Given the description of an element on the screen output the (x, y) to click on. 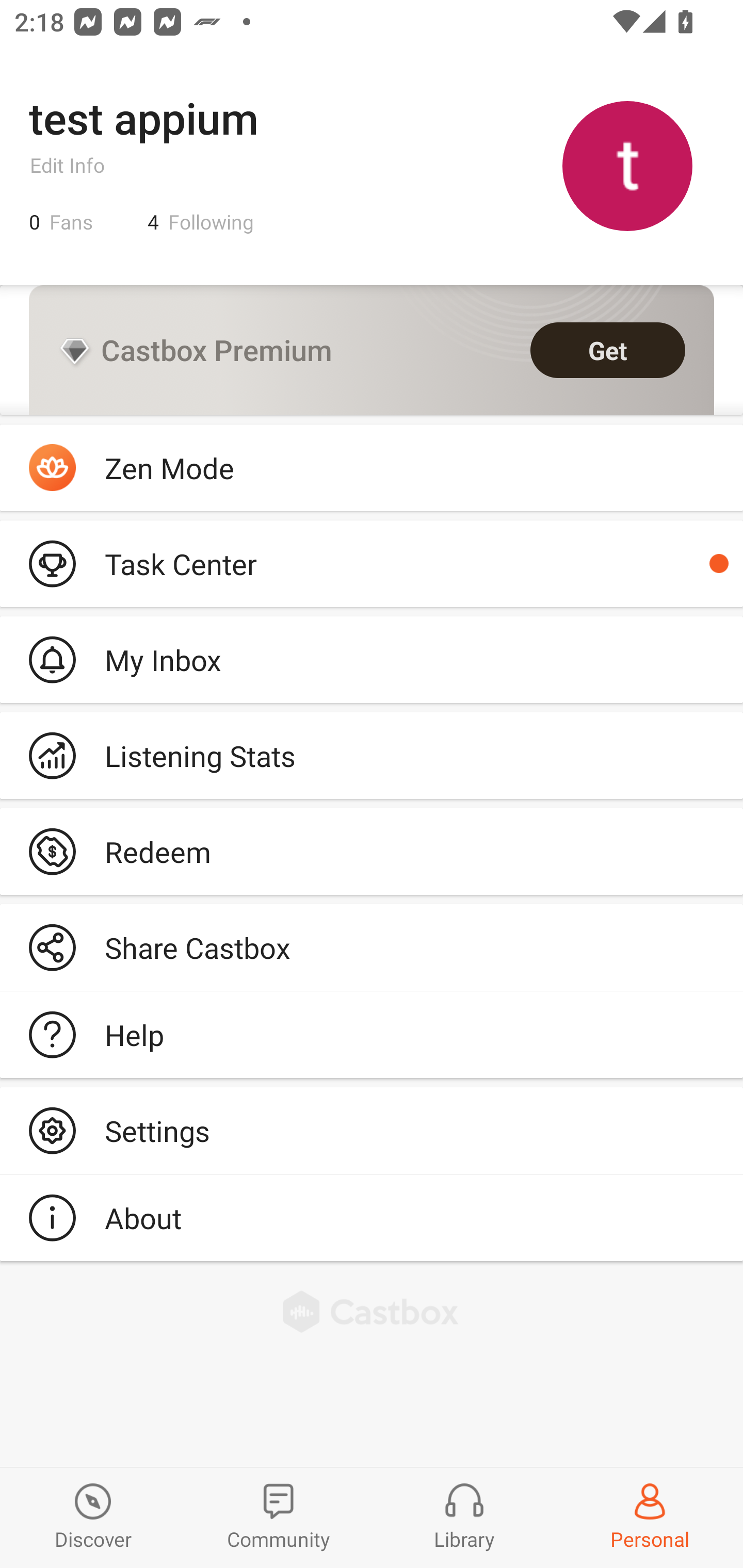
test appium Edit Info 0 Fans 4 Following (371, 165)
0 Fans (60, 221)
4 Following (200, 221)
Castbox Premium Get (371, 350)
Get (607, 350)
Zen Mode (371, 467)
Podcaster  Task Center (371, 563)
 My Inbox (371, 659)
 Listening Stats (371, 755)
 Redeem (371, 851)
 Share Castbox (371, 947)
 Help (371, 1034)
 Settings (371, 1130)
 About (371, 1217)
Discover (92, 1517)
Community (278, 1517)
Library (464, 1517)
Profiles and Settings Personal (650, 1517)
